Given the description of an element on the screen output the (x, y) to click on. 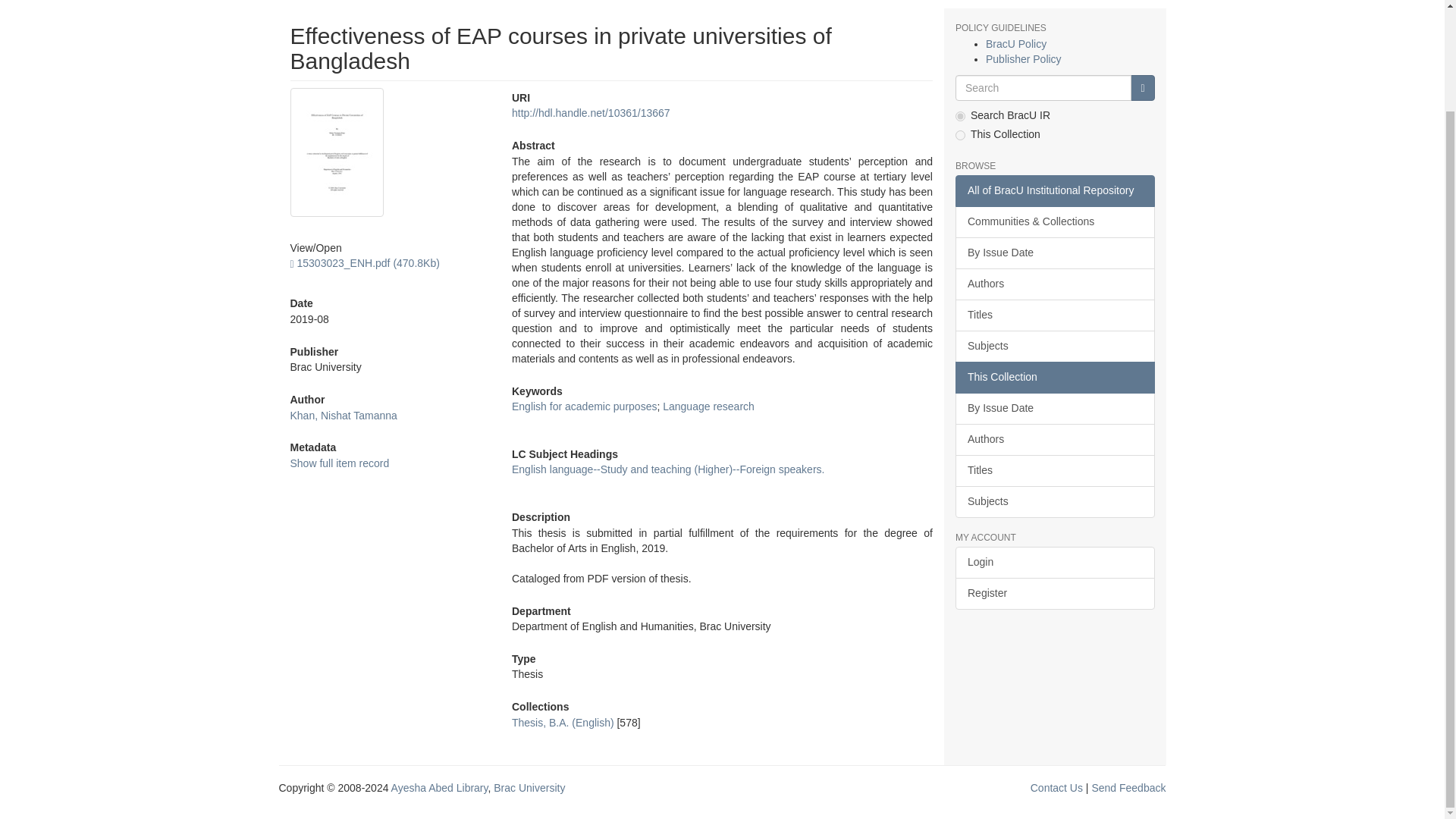
By Issue Date (1054, 253)
By Issue Date (1054, 409)
Authors (1054, 284)
Authors (1054, 439)
Show full item record (338, 463)
BracU Policy (1015, 43)
Language research (708, 406)
Subjects (1054, 346)
This Collection (1054, 377)
Go (1142, 87)
English for academic purposes (584, 406)
Khan, Nishat Tamanna (342, 414)
Publisher Policy (1023, 59)
All of BracU Institutional Repository (1054, 191)
Titles (1054, 315)
